Given the description of an element on the screen output the (x, y) to click on. 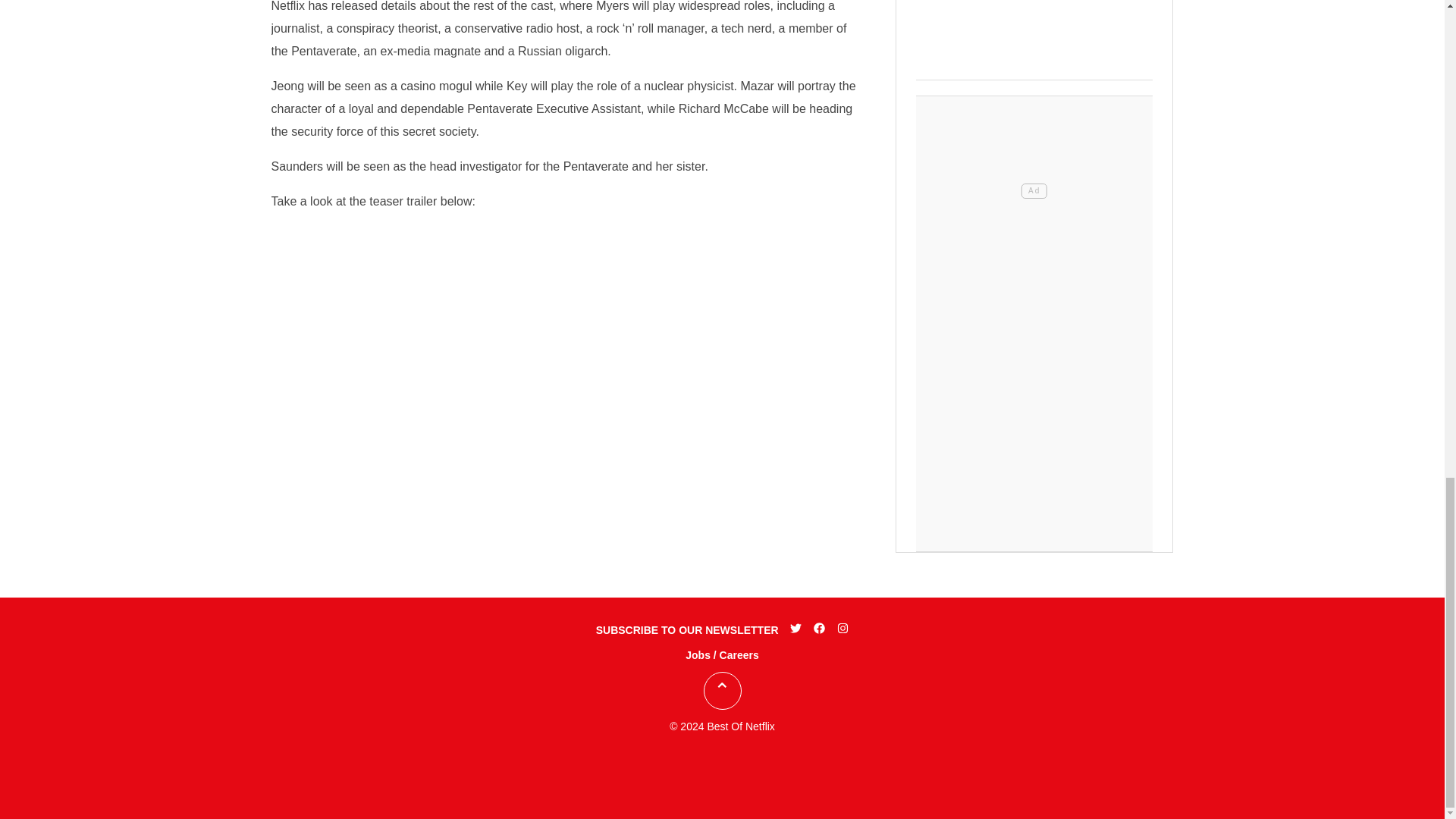
SUBSCRIBE TO OUR NEWSLETTER (687, 629)
